Given the description of an element on the screen output the (x, y) to click on. 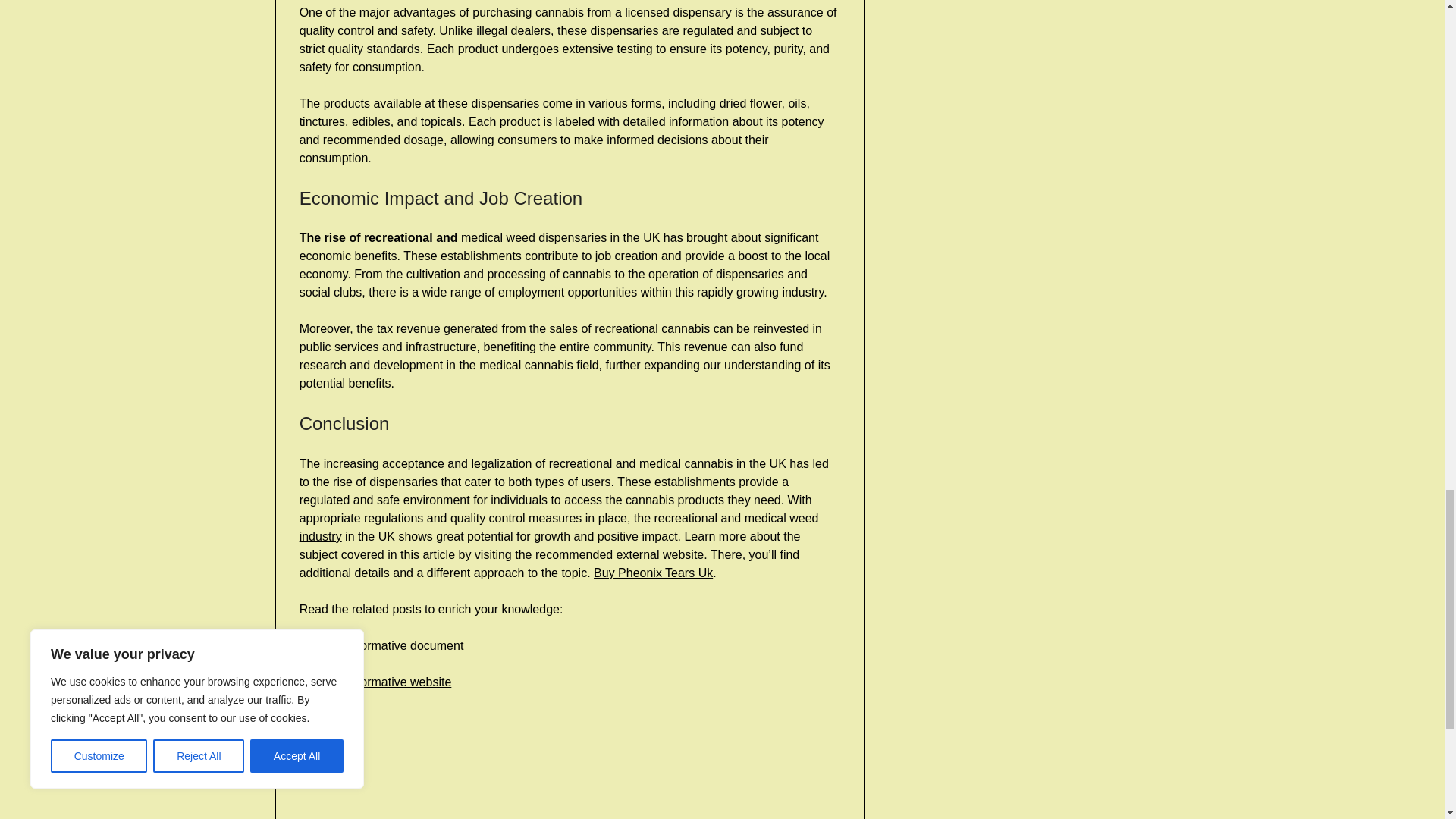
industry (320, 535)
Visit this informative website (375, 681)
Buy Pheonix Tears Uk (653, 572)
Visit this informative document (381, 645)
